Given the description of an element on the screen output the (x, y) to click on. 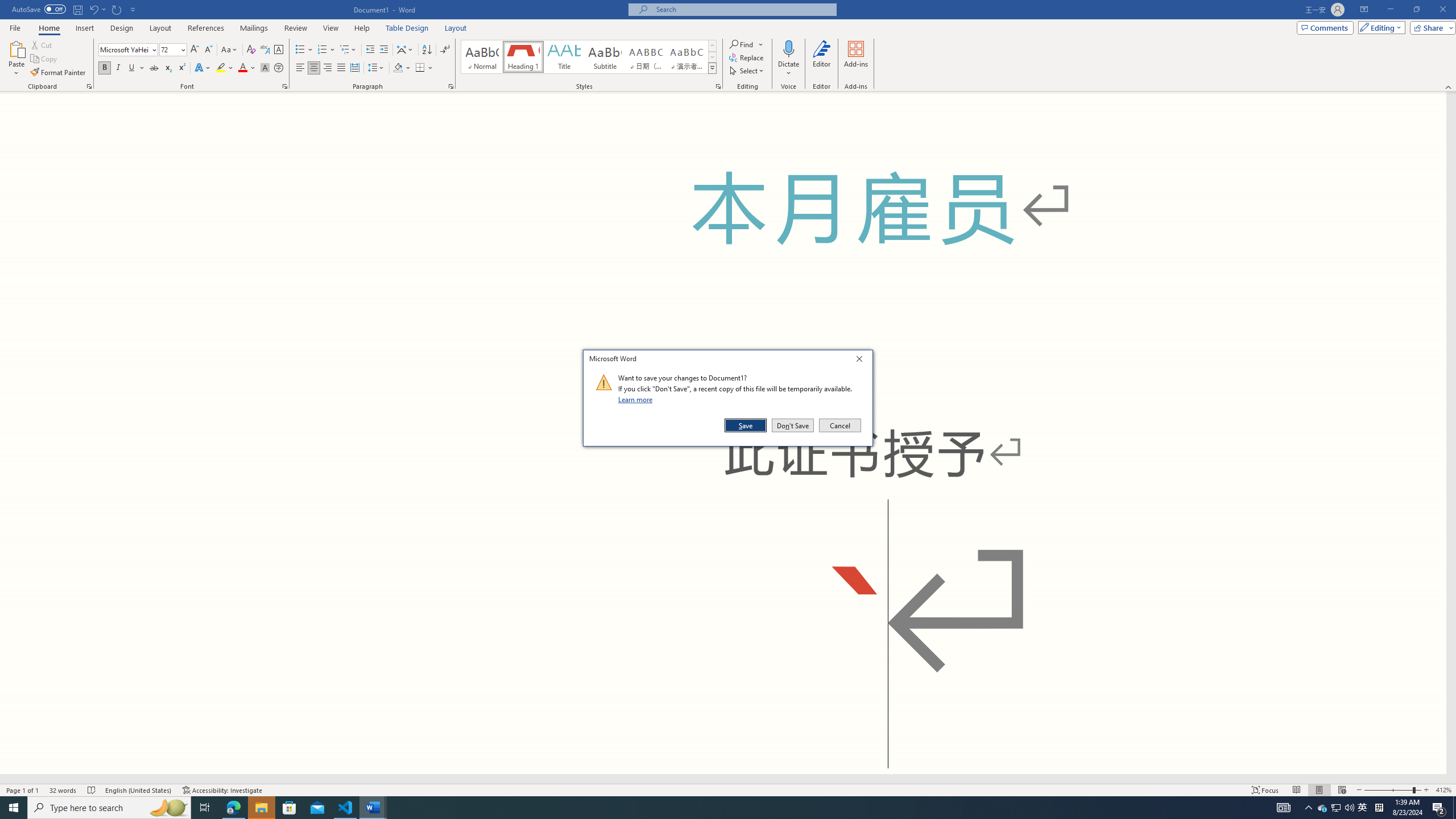
Running applications (700, 807)
Heading 1 (522, 56)
Font Color Red (241, 67)
Zoom 412% (1443, 790)
